Given the description of an element on the screen output the (x, y) to click on. 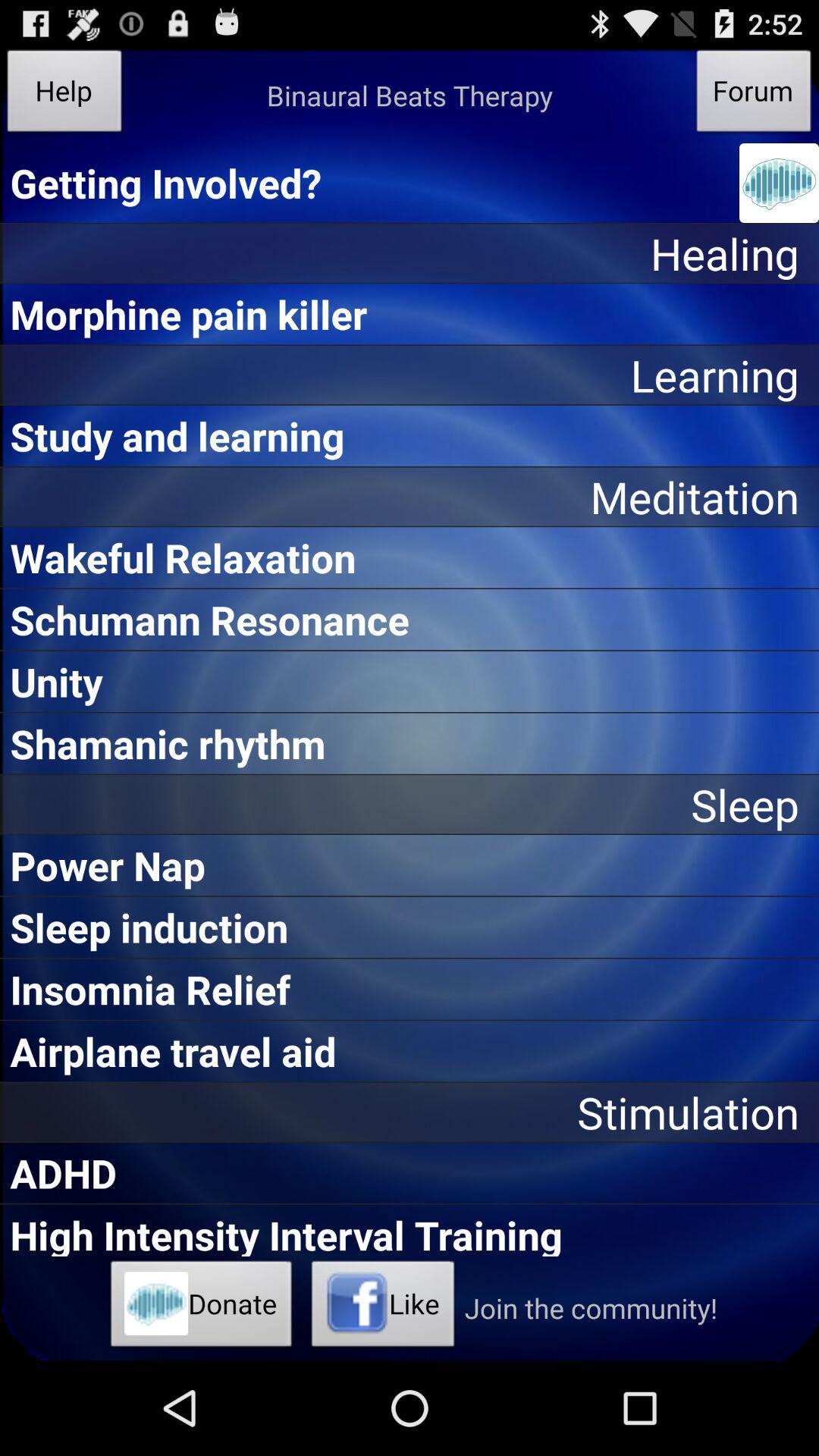
press donate item (201, 1308)
